Given the description of an element on the screen output the (x, y) to click on. 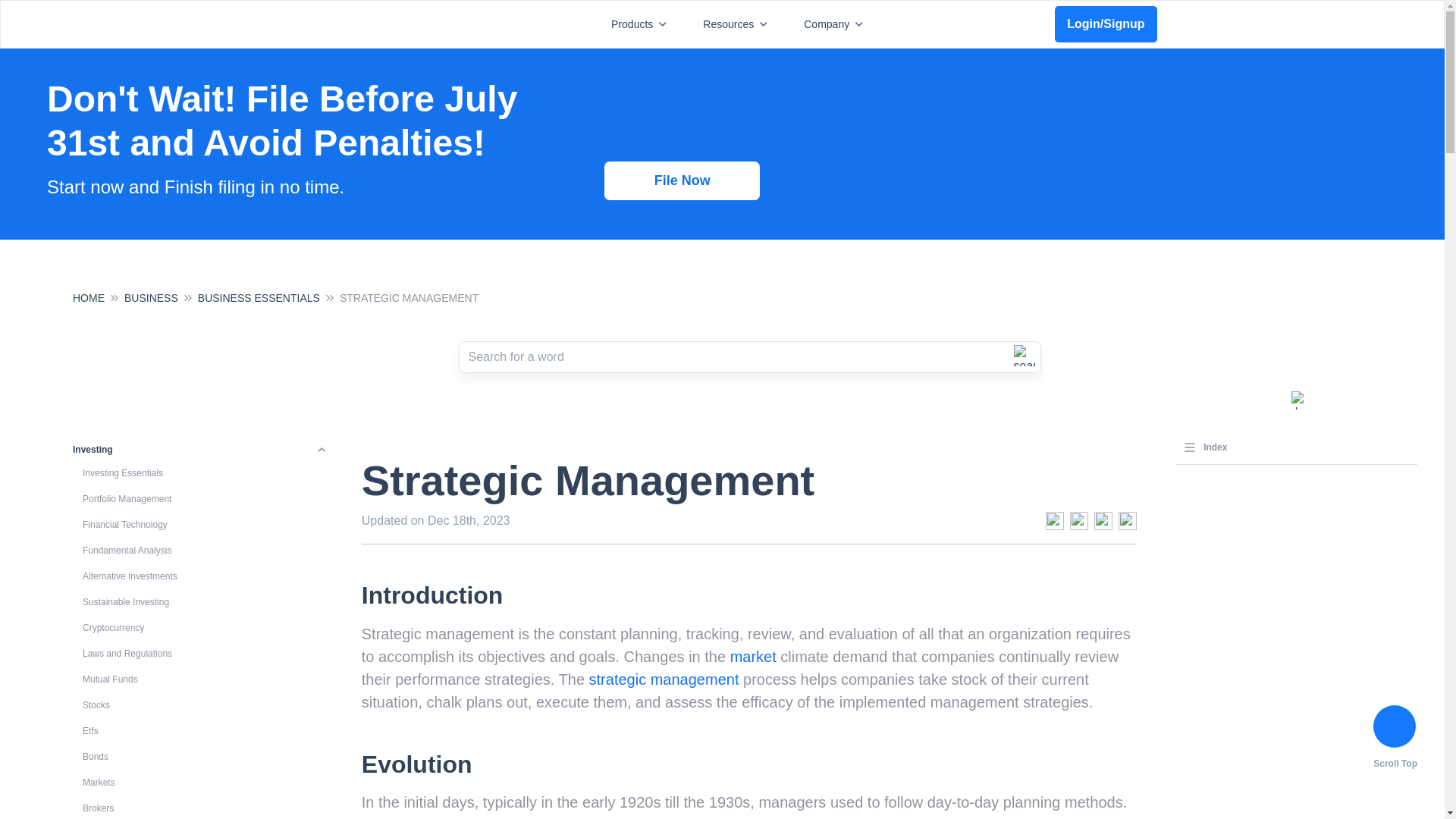
Resources (738, 24)
Company (836, 24)
Products (641, 24)
